Given the description of an element on the screen output the (x, y) to click on. 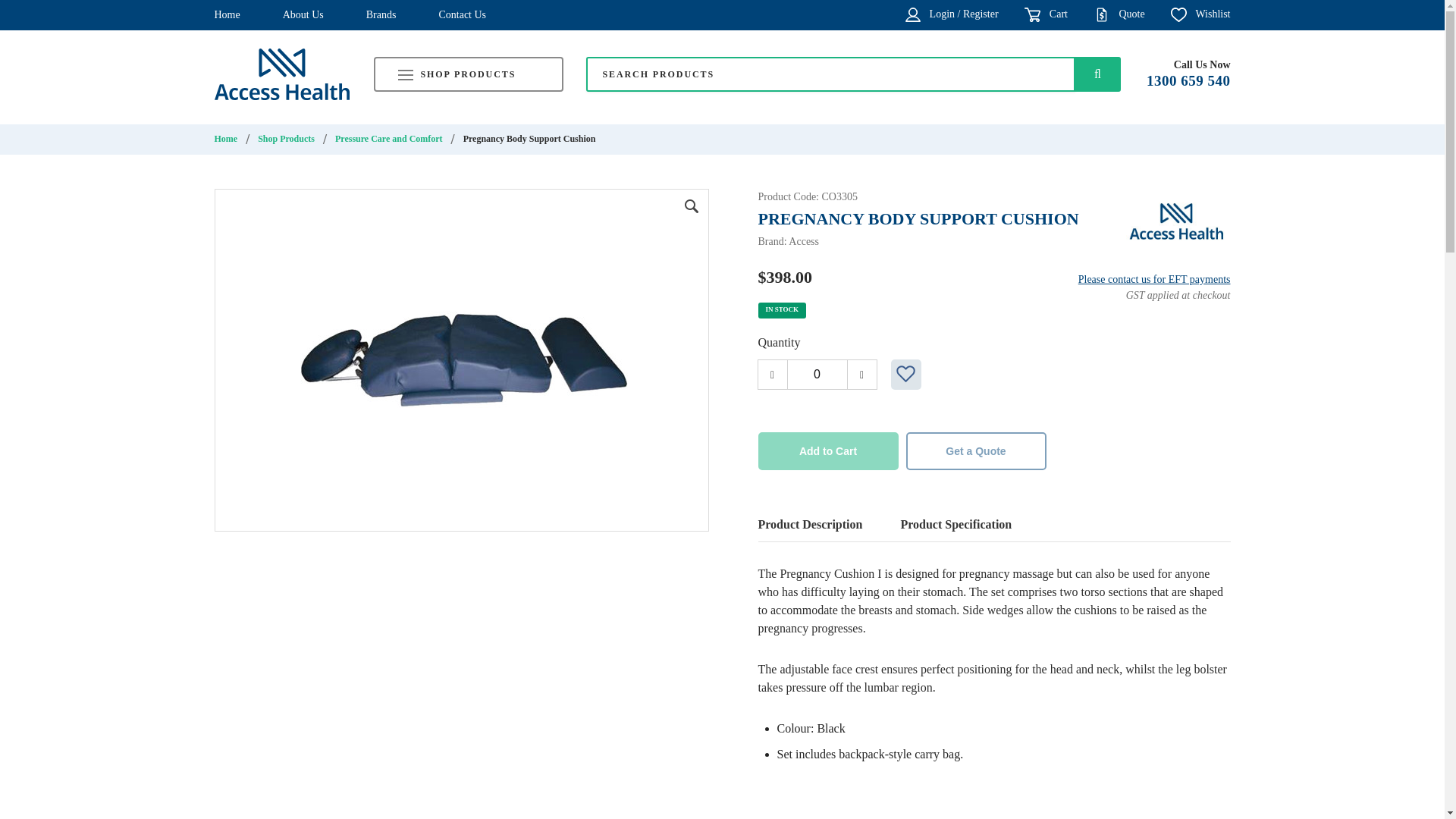
Qty (817, 374)
Brand: Access (1175, 219)
0 (817, 374)
Search for: (829, 73)
